Given the description of an element on the screen output the (x, y) to click on. 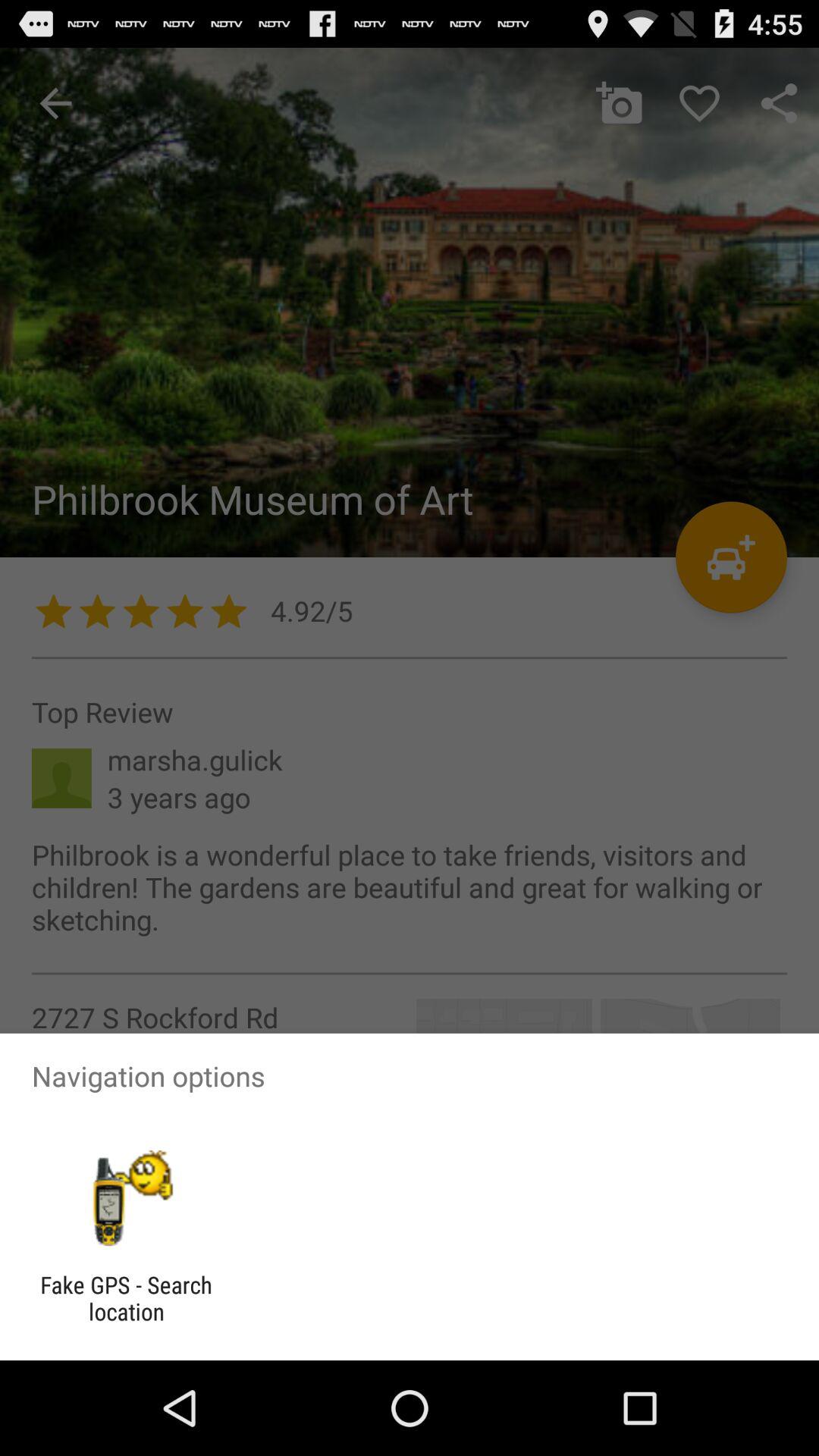
choose the app above the fake gps search icon (126, 1198)
